Given the description of an element on the screen output the (x, y) to click on. 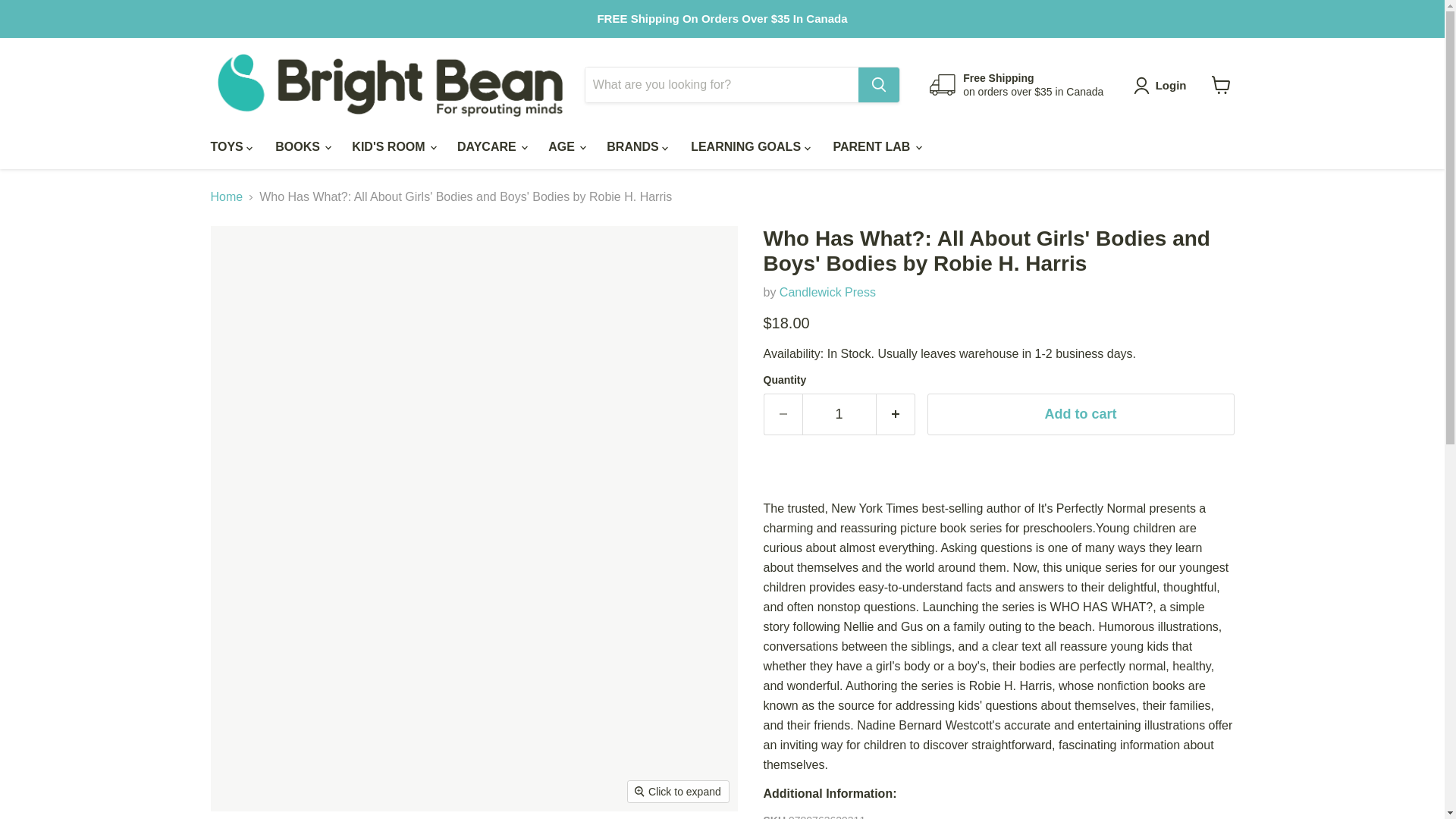
Candlewick Press (827, 291)
View cart (1221, 84)
Login (1163, 85)
1 (839, 413)
